Given the description of an element on the screen output the (x, y) to click on. 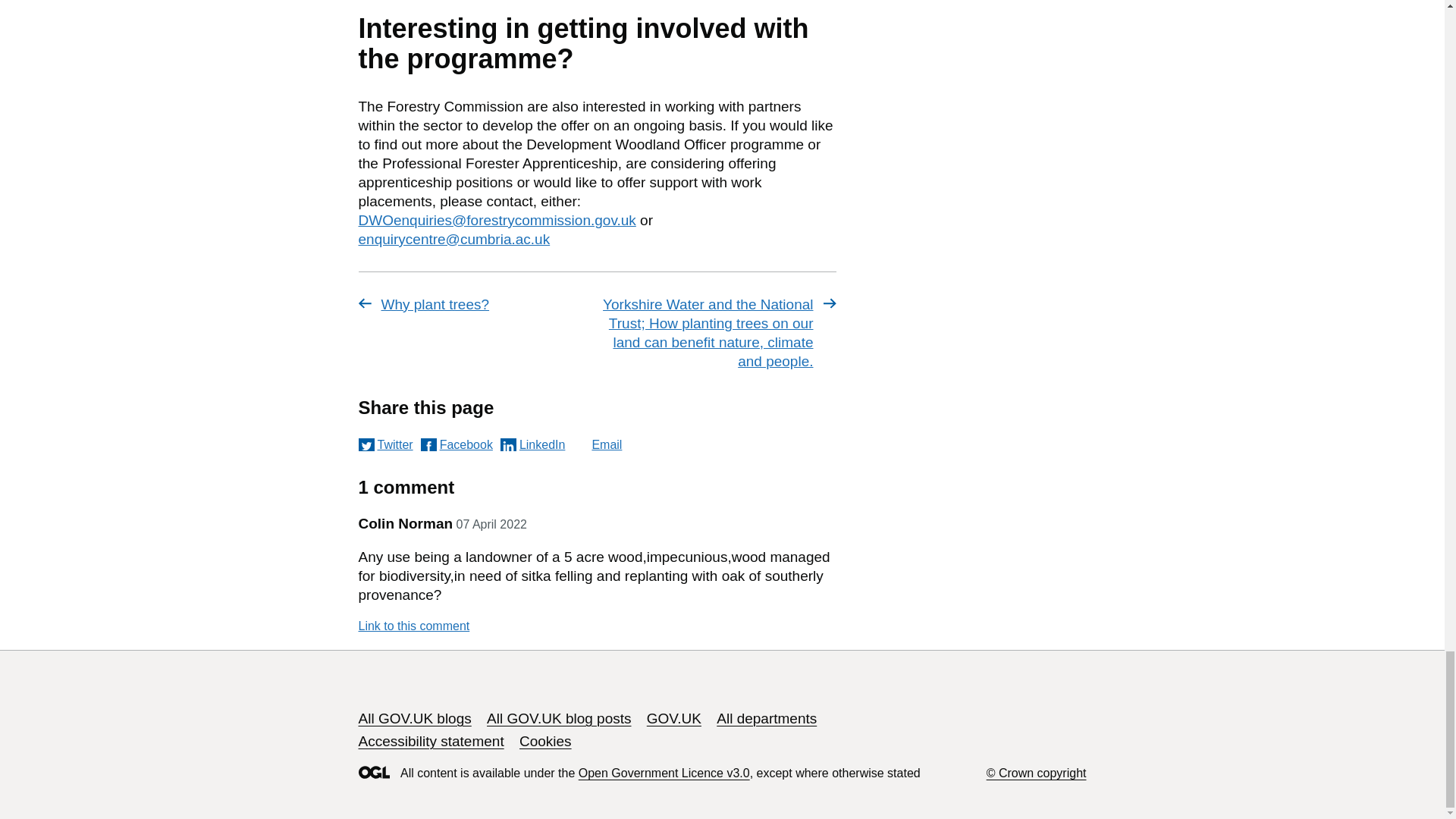
All GOV.UK blogs (414, 718)
Email (596, 444)
LinkedIn (533, 444)
GOV.UK (673, 718)
Why plant trees? (475, 303)
Accessibility statement (430, 741)
All departments (766, 718)
Twitter (385, 444)
All GOV.UK blog posts (558, 718)
